Given the description of an element on the screen output the (x, y) to click on. 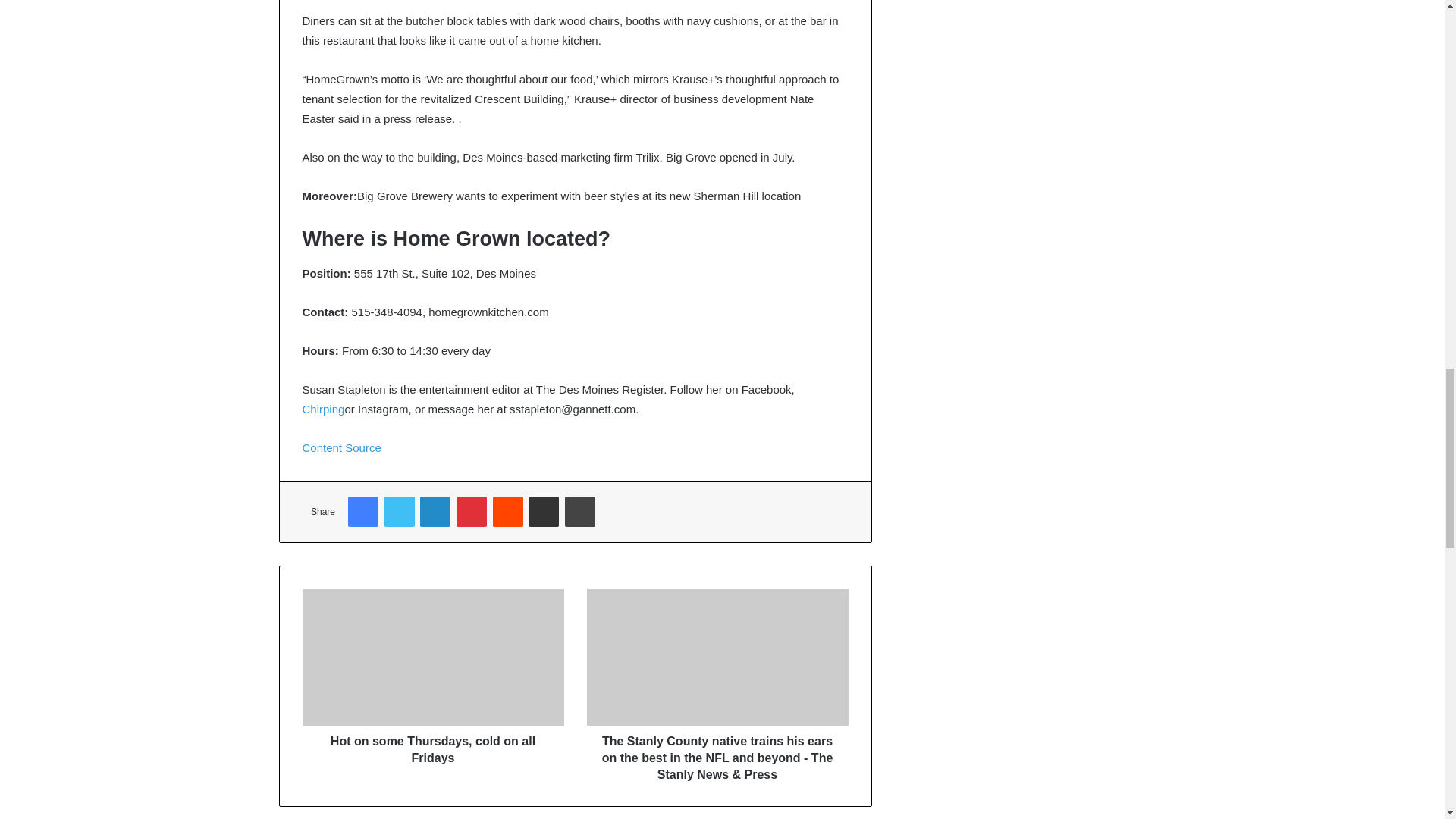
LinkedIn (434, 511)
Share via Email (543, 511)
Pinterest (471, 511)
Twitter (399, 511)
Chirping (322, 408)
Twitter (399, 511)
Facebook (362, 511)
LinkedIn (434, 511)
Reddit (507, 511)
Print (579, 511)
Facebook (362, 511)
Content Source (340, 447)
